Given the description of an element on the screen output the (x, y) to click on. 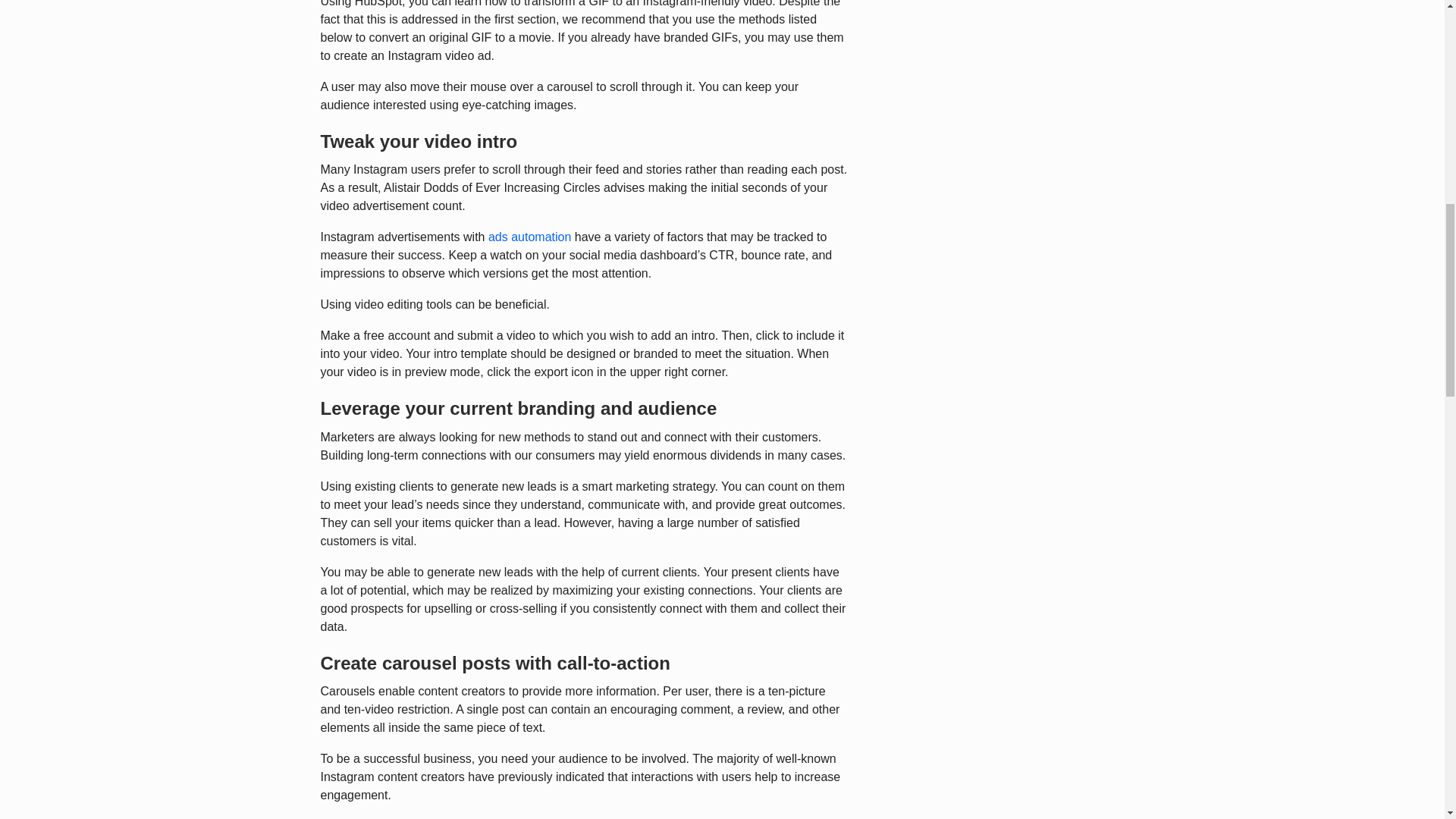
ads automation (528, 236)
